Given the description of an element on the screen output the (x, y) to click on. 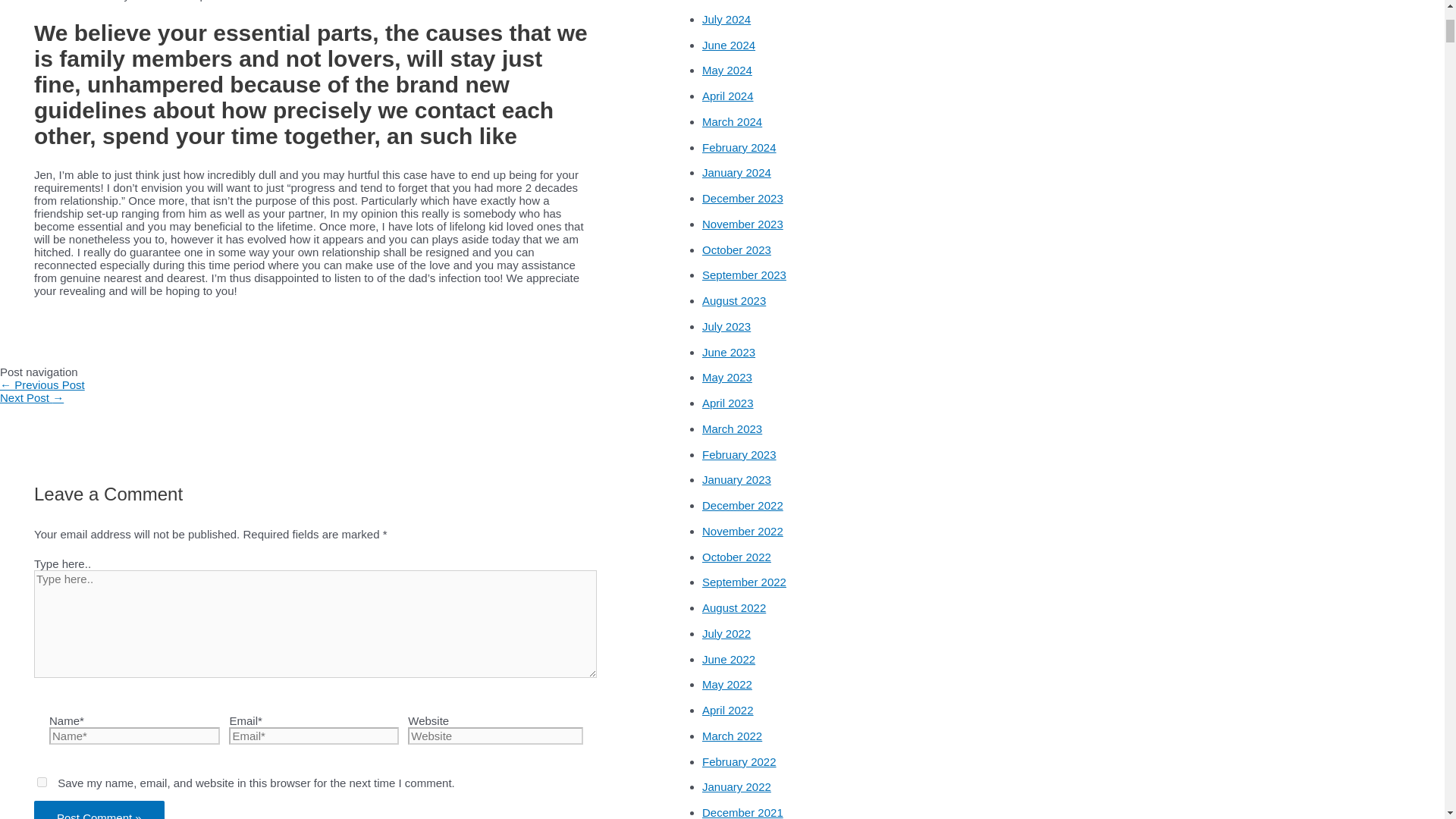
April 2024 (727, 95)
July 2024 (726, 19)
March 2024 (731, 121)
yes (41, 782)
May 2024 (726, 69)
June 2024 (728, 43)
